Given the description of an element on the screen output the (x, y) to click on. 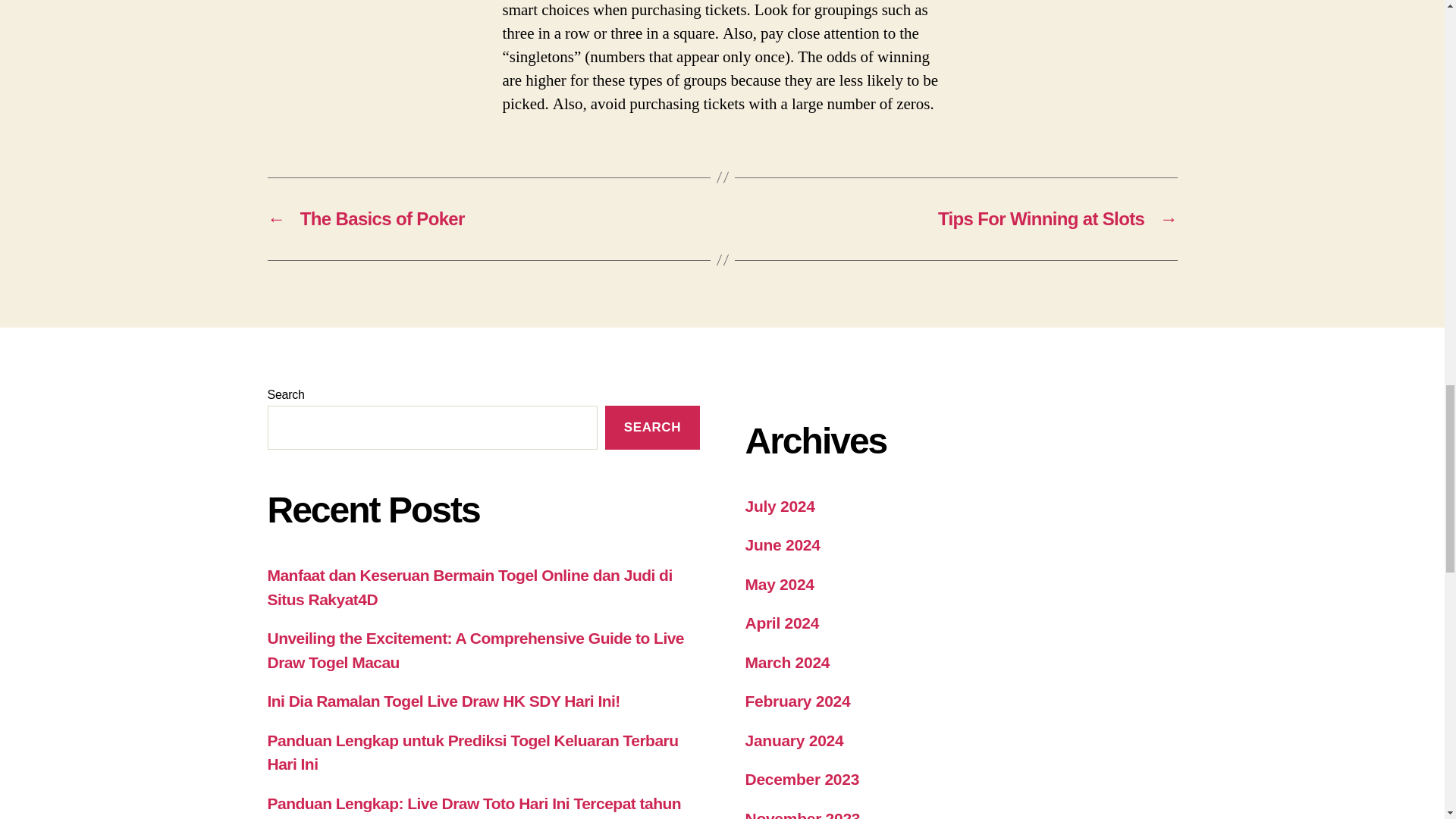
April 2024 (781, 622)
June 2024 (781, 544)
December 2023 (801, 778)
January 2024 (793, 739)
Panduan Lengkap: Live Draw Toto Hari Ini Tercepat tahun 2024 (473, 806)
November 2023 (802, 814)
March 2024 (786, 661)
July 2024 (778, 506)
Ini Dia Ramalan Togel Live Draw HK SDY Hari Ini! (443, 701)
May 2024 (778, 583)
SEARCH (651, 426)
February 2024 (797, 701)
